Given the description of an element on the screen output the (x, y) to click on. 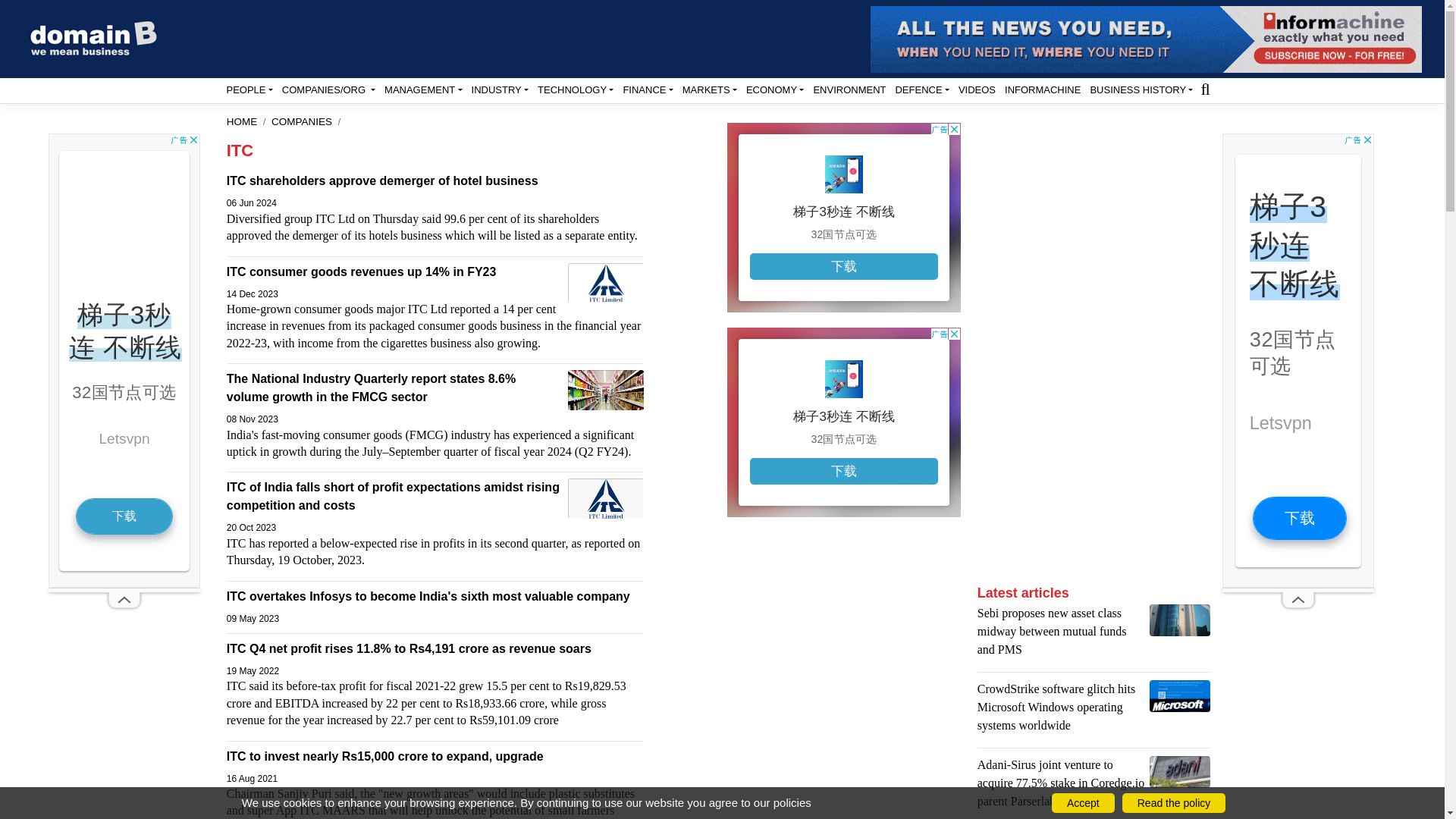
Open search box (1204, 87)
Advertisement (843, 626)
Advertisement (843, 778)
PEOPLE (248, 89)
Advertisement (843, 217)
Advertisement (843, 421)
Advertisement (1066, 350)
